Given the description of an element on the screen output the (x, y) to click on. 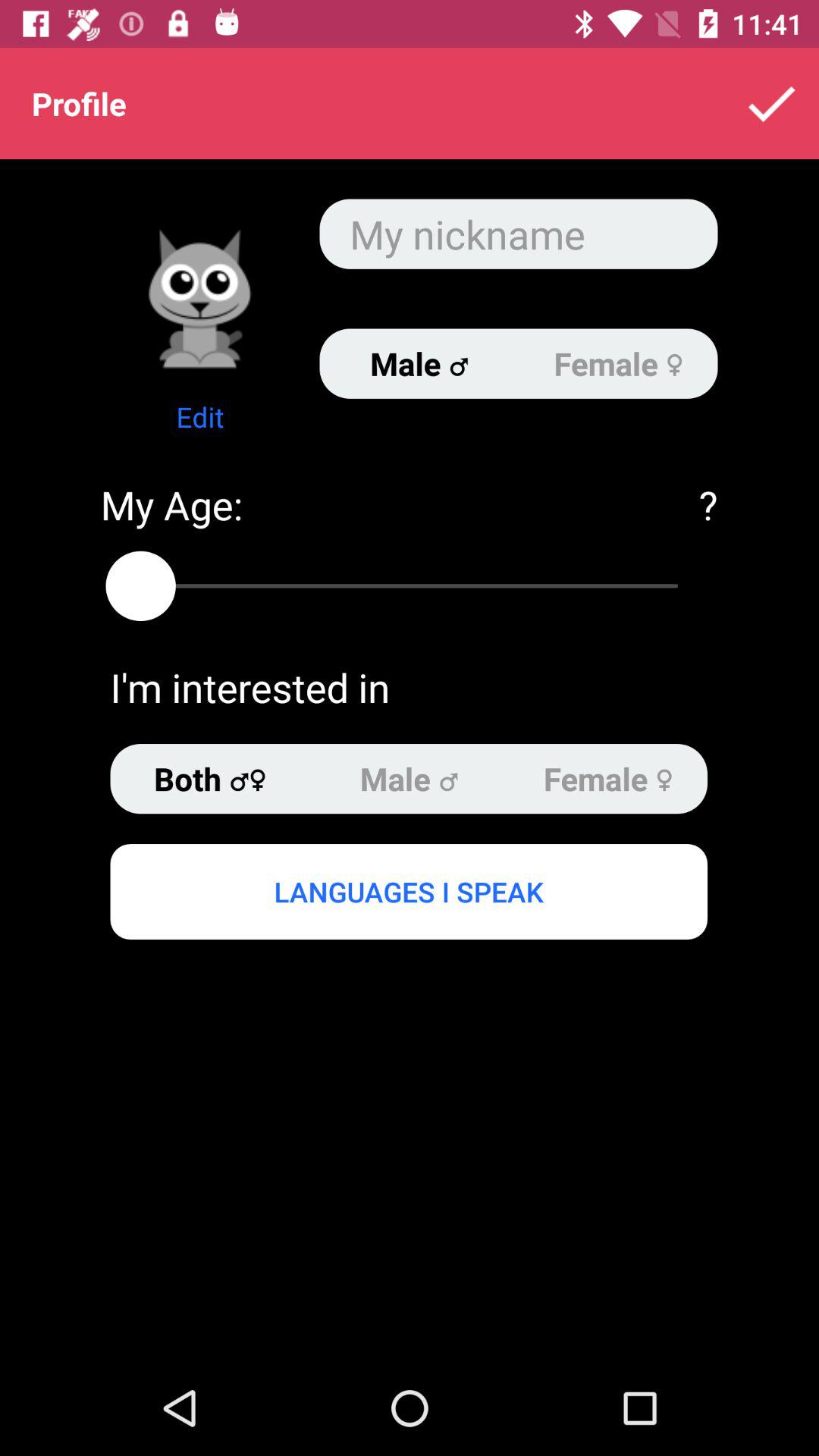
edit your picture (199, 298)
